Given the description of an element on the screen output the (x, y) to click on. 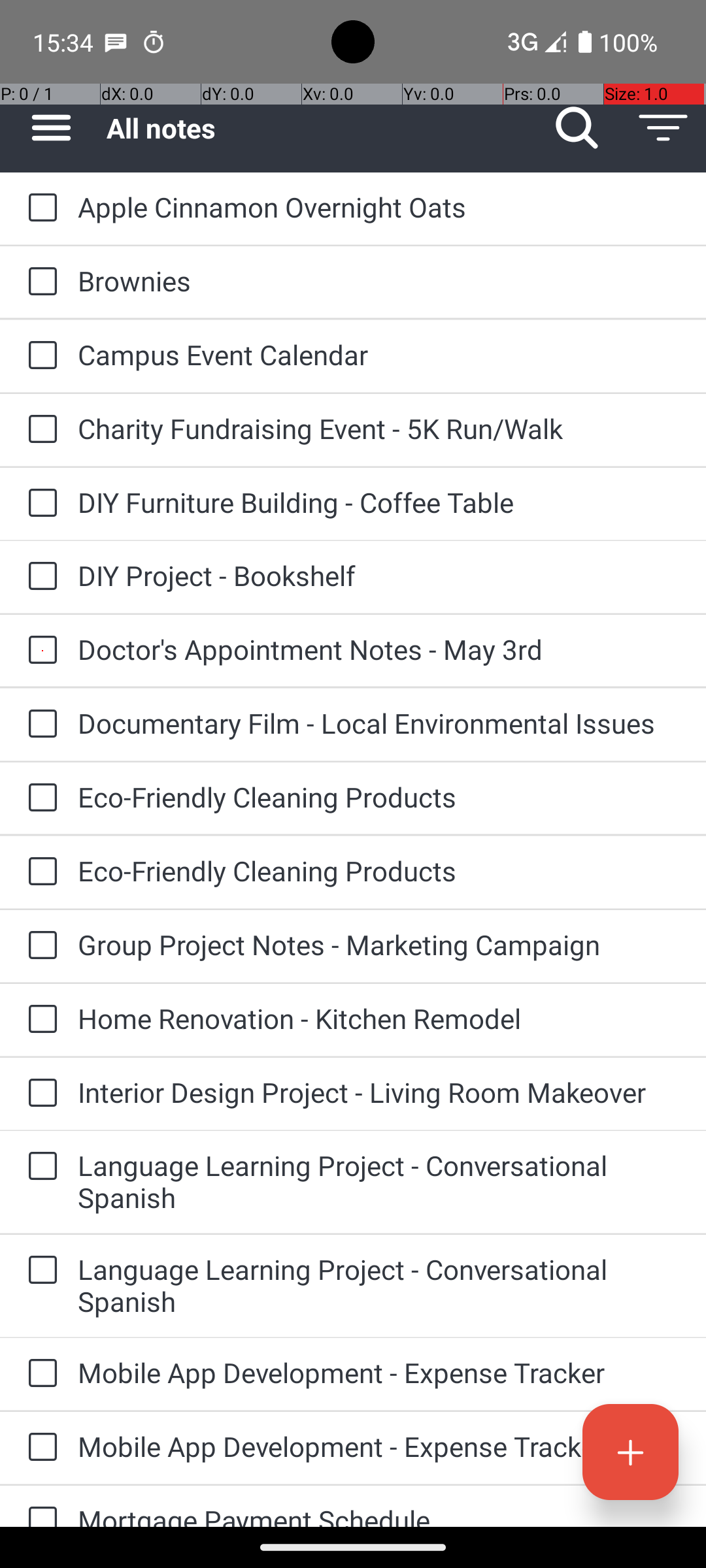
to-do: Apple Cinnamon Overnight Oats Element type: android.widget.CheckBox (38, 208)
Apple Cinnamon Overnight Oats Element type: android.widget.TextView (378, 206)
to-do: Brownies Element type: android.widget.CheckBox (38, 282)
Brownies Element type: android.widget.TextView (378, 280)
to-do: Campus Event Calendar Element type: android.widget.CheckBox (38, 356)
Campus Event Calendar Element type: android.widget.TextView (378, 354)
to-do: Charity Fundraising Event - 5K Run/Walk Element type: android.widget.CheckBox (38, 429)
Charity Fundraising Event - 5K Run/Walk Element type: android.widget.TextView (378, 427)
to-do: DIY Furniture Building - Coffee Table Element type: android.widget.CheckBox (38, 503)
DIY Furniture Building - Coffee Table Element type: android.widget.TextView (378, 501)
to-do: DIY Project - Bookshelf Element type: android.widget.CheckBox (38, 576)
DIY Project - Bookshelf Element type: android.widget.TextView (378, 574)
to-do: Doctor's Appointment Notes - May 3rd Element type: android.widget.CheckBox (38, 650)
Doctor's Appointment Notes - May 3rd Element type: android.widget.TextView (378, 648)
to-do: Documentary Film - Local Environmental Issues Element type: android.widget.CheckBox (38, 724)
Documentary Film - Local Environmental Issues Element type: android.widget.TextView (378, 722)
to-do: Eco-Friendly Cleaning Products Element type: android.widget.CheckBox (38, 798)
Eco-Friendly Cleaning Products Element type: android.widget.TextView (378, 796)
to-do: Group Project Notes - Marketing Campaign Element type: android.widget.CheckBox (38, 945)
Group Project Notes - Marketing Campaign Element type: android.widget.TextView (378, 944)
to-do: Home Renovation - Kitchen Remodel Element type: android.widget.CheckBox (38, 1019)
Home Renovation - Kitchen Remodel Element type: android.widget.TextView (378, 1017)
to-do: Interior Design Project - Living Room Makeover Element type: android.widget.CheckBox (38, 1093)
Interior Design Project - Living Room Makeover Element type: android.widget.TextView (378, 1091)
to-do: Language Learning Project - Conversational Spanish Element type: android.widget.CheckBox (38, 1166)
Language Learning Project - Conversational Spanish Element type: android.widget.TextView (378, 1180)
to-do: Mobile App Development - Expense Tracker Element type: android.widget.CheckBox (38, 1374)
Mobile App Development - Expense Tracker Element type: android.widget.TextView (378, 1371)
to-do: Mortgage Payment Schedule Element type: android.widget.CheckBox (38, 1505)
Mortgage Payment Schedule Element type: android.widget.TextView (378, 1513)
